Given the description of an element on the screen output the (x, y) to click on. 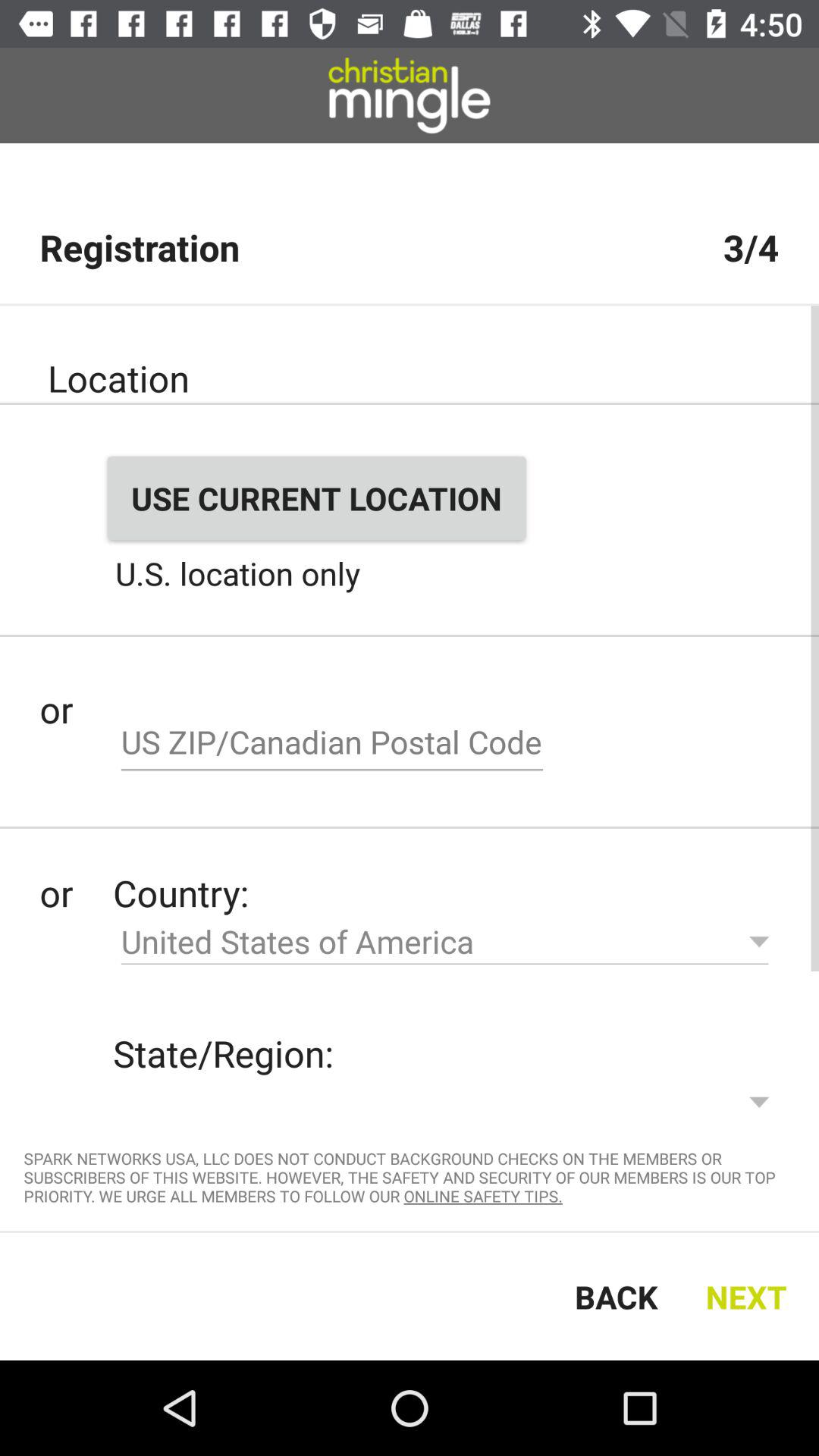
enter message (332, 743)
